Given the description of an element on the screen output the (x, y) to click on. 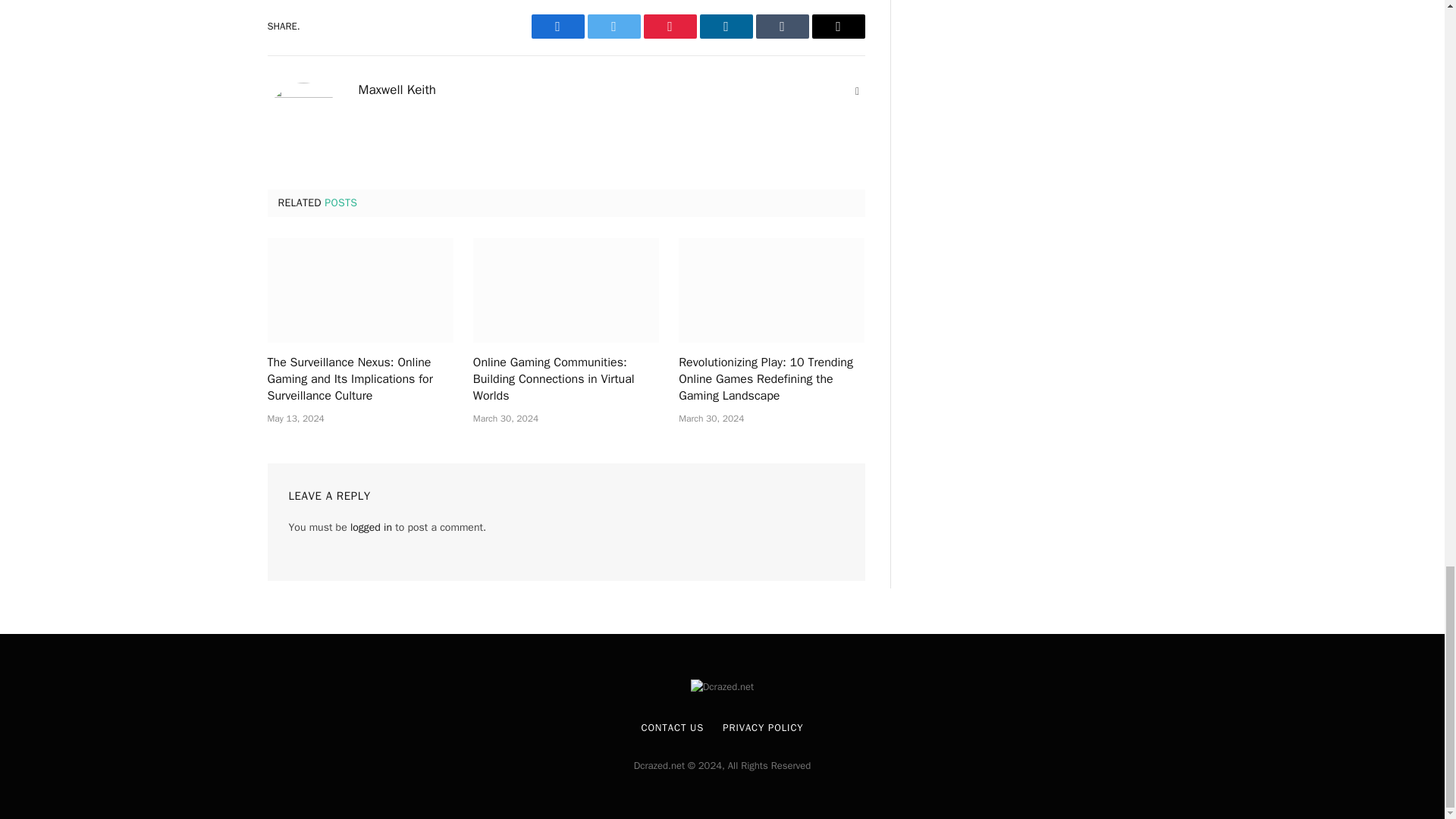
Pinterest (669, 26)
LinkedIn (725, 26)
Facebook (557, 26)
Twitter (613, 26)
